Given the description of an element on the screen output the (x, y) to click on. 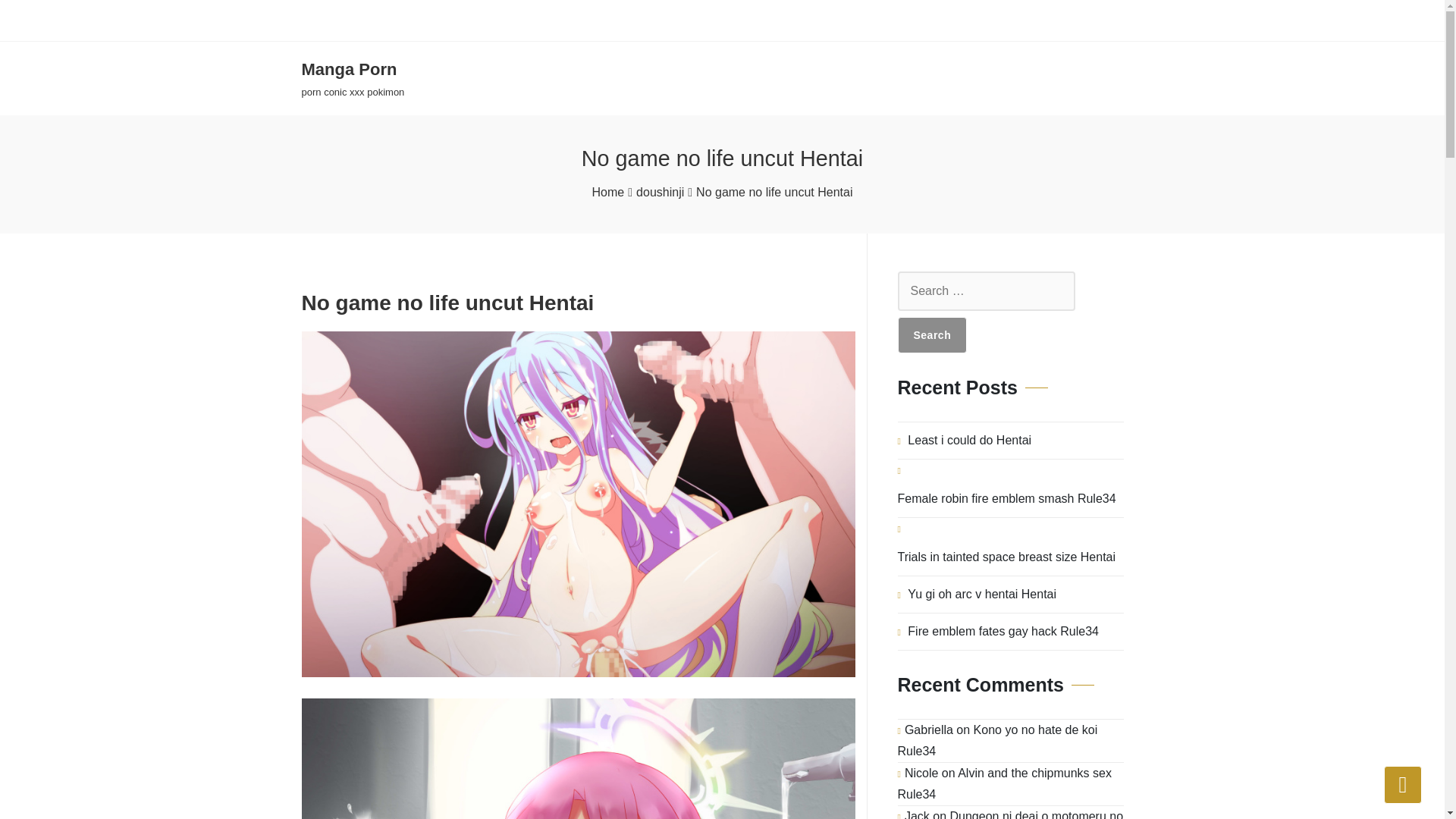
Least i could do Hentai (968, 440)
Search (933, 334)
Trials in tainted space breast size Hentai (1007, 556)
Alvin and the chipmunks sex Rule34 (1005, 783)
Yu gi oh arc v hentai Hentai (352, 78)
Fire emblem fates gay hack Rule34 (982, 594)
doushinji (1003, 631)
Back To Top (660, 192)
